Given the description of an element on the screen output the (x, y) to click on. 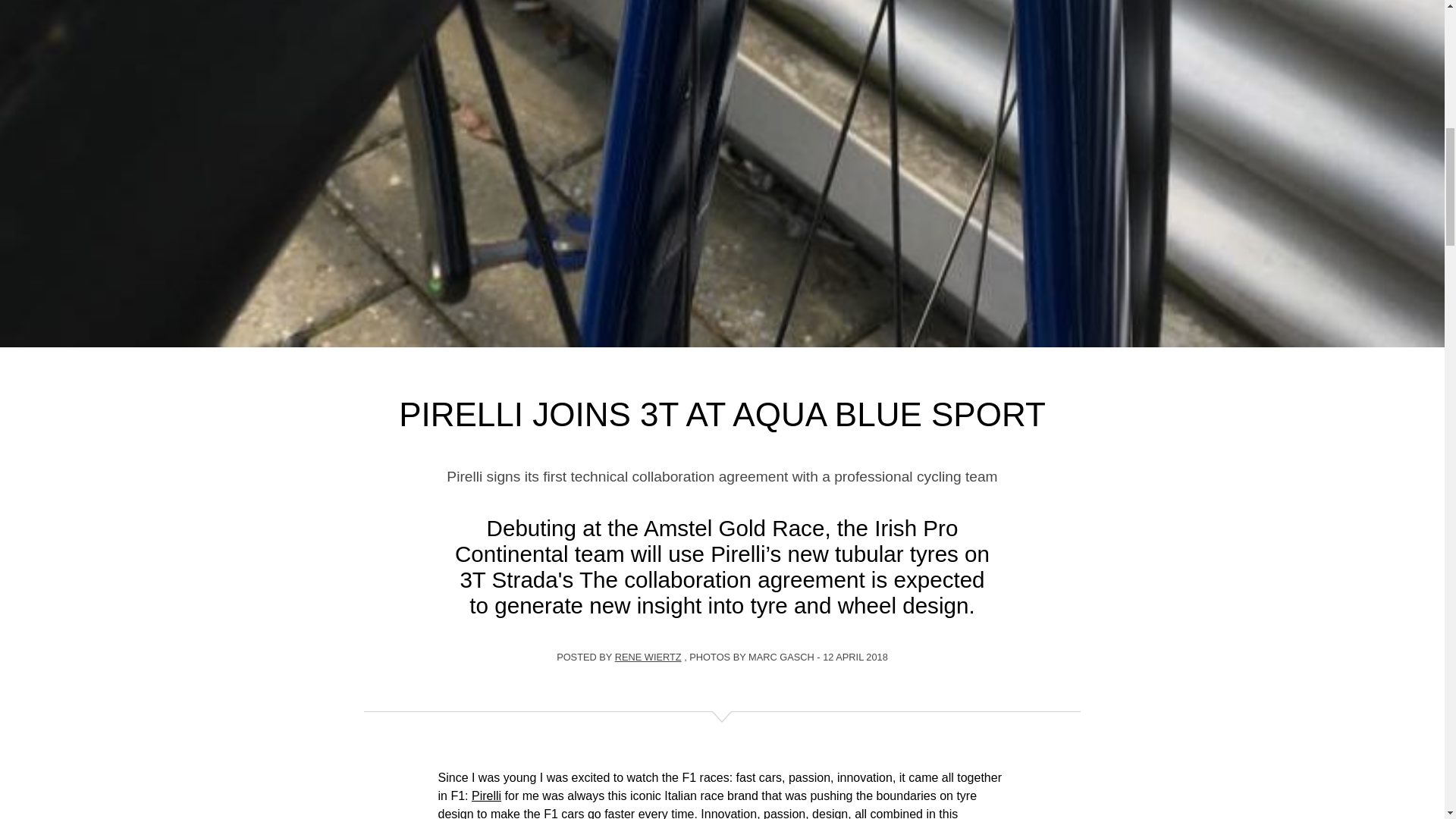
RENE WIERTZ (647, 656)
Pirelli (485, 794)
